Given the description of an element on the screen output the (x, y) to click on. 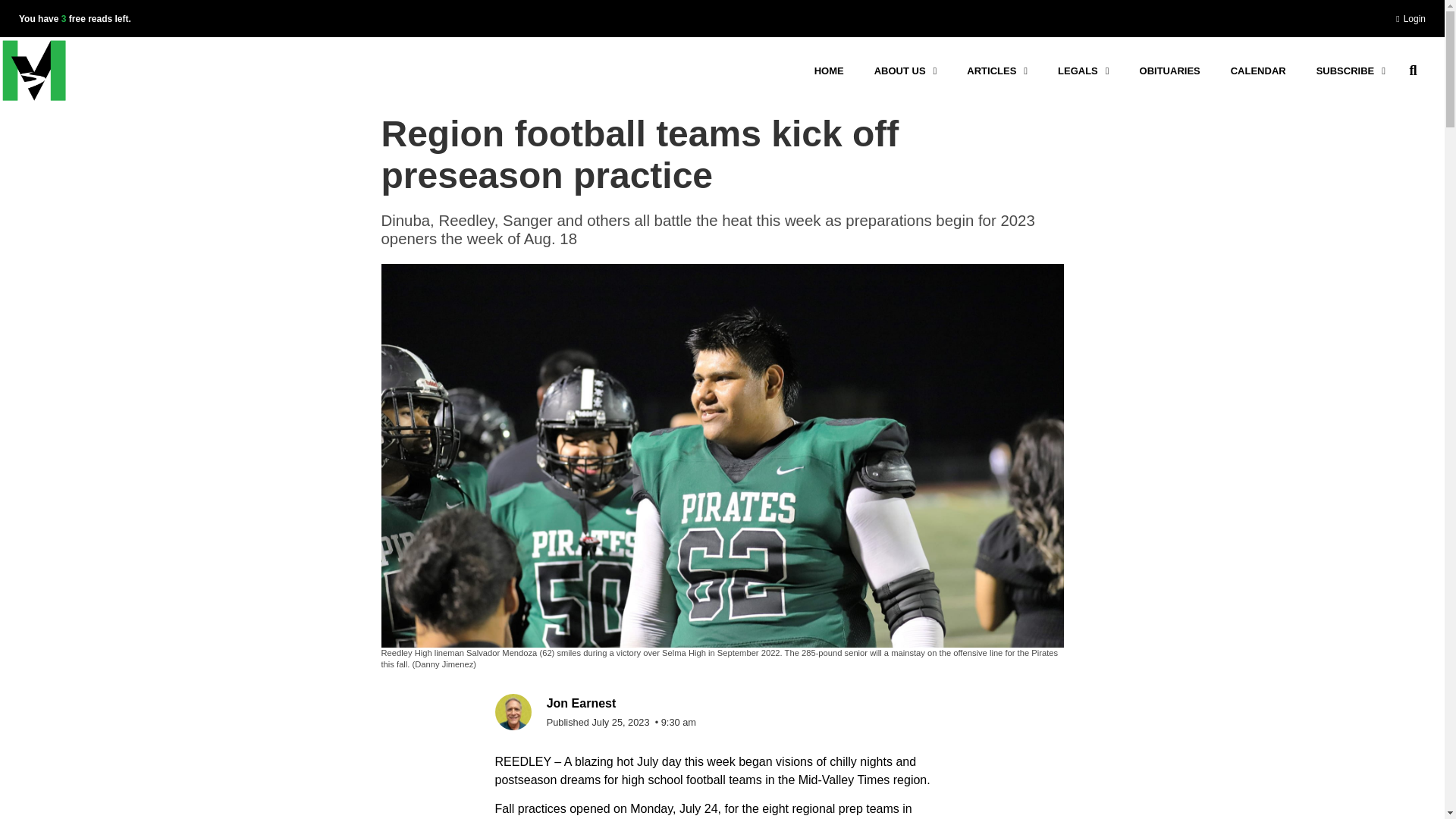
CALENDAR (1258, 70)
You have 3 free reads left. (74, 18)
ABOUT US (905, 70)
LEGALS (1083, 70)
Login (1410, 19)
ARTICLES (997, 70)
SUBSCRIBE (1350, 70)
OBITUARIES (1169, 70)
